Given the description of an element on the screen output the (x, y) to click on. 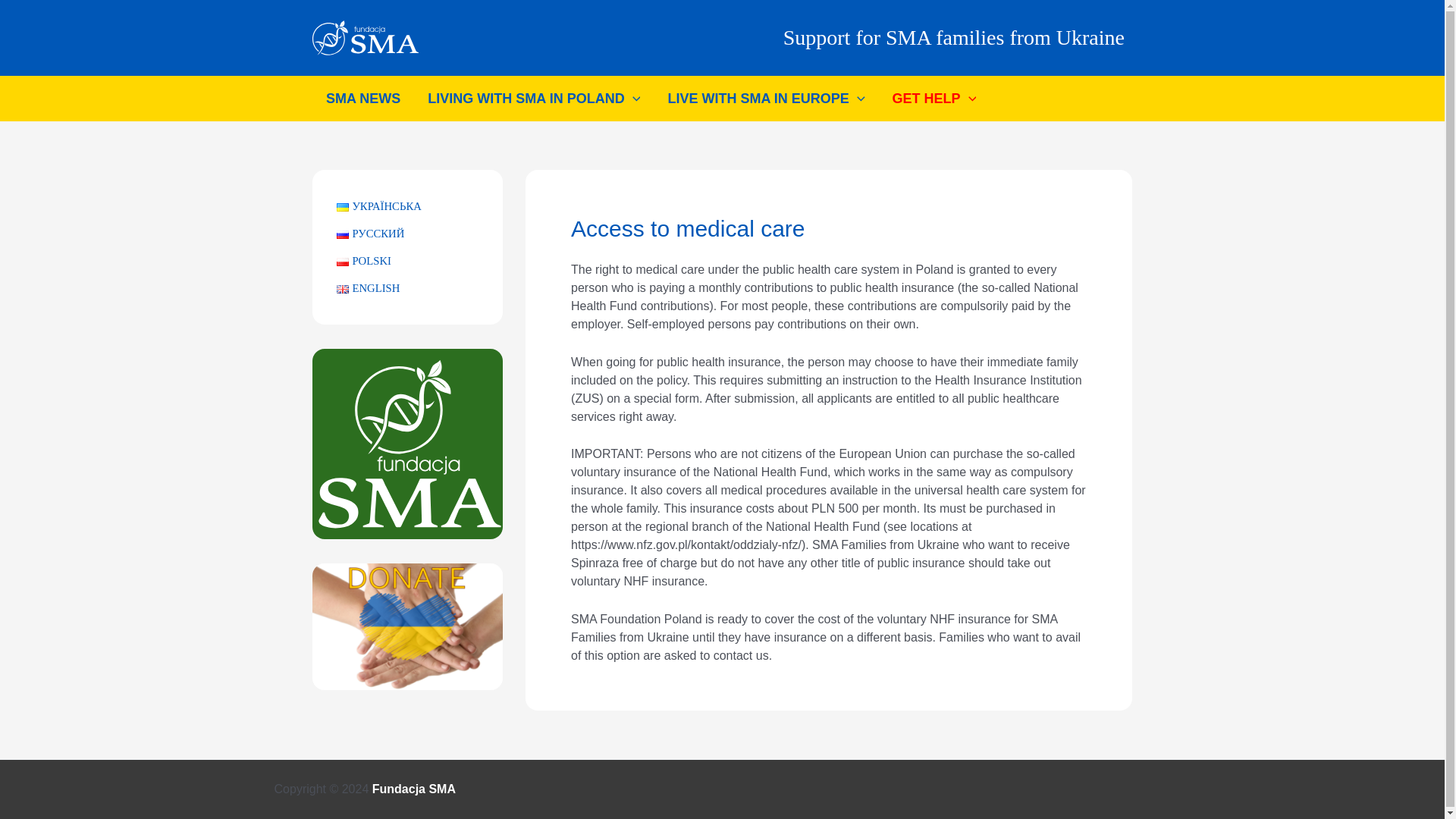
SMA NEWS (363, 98)
ENGLISH (367, 287)
GET HELP (934, 98)
LIVE WITH SMA IN EUROPE (765, 98)
LIVING WITH SMA IN POLAND (533, 98)
POLSKI (363, 260)
